Given the description of an element on the screen output the (x, y) to click on. 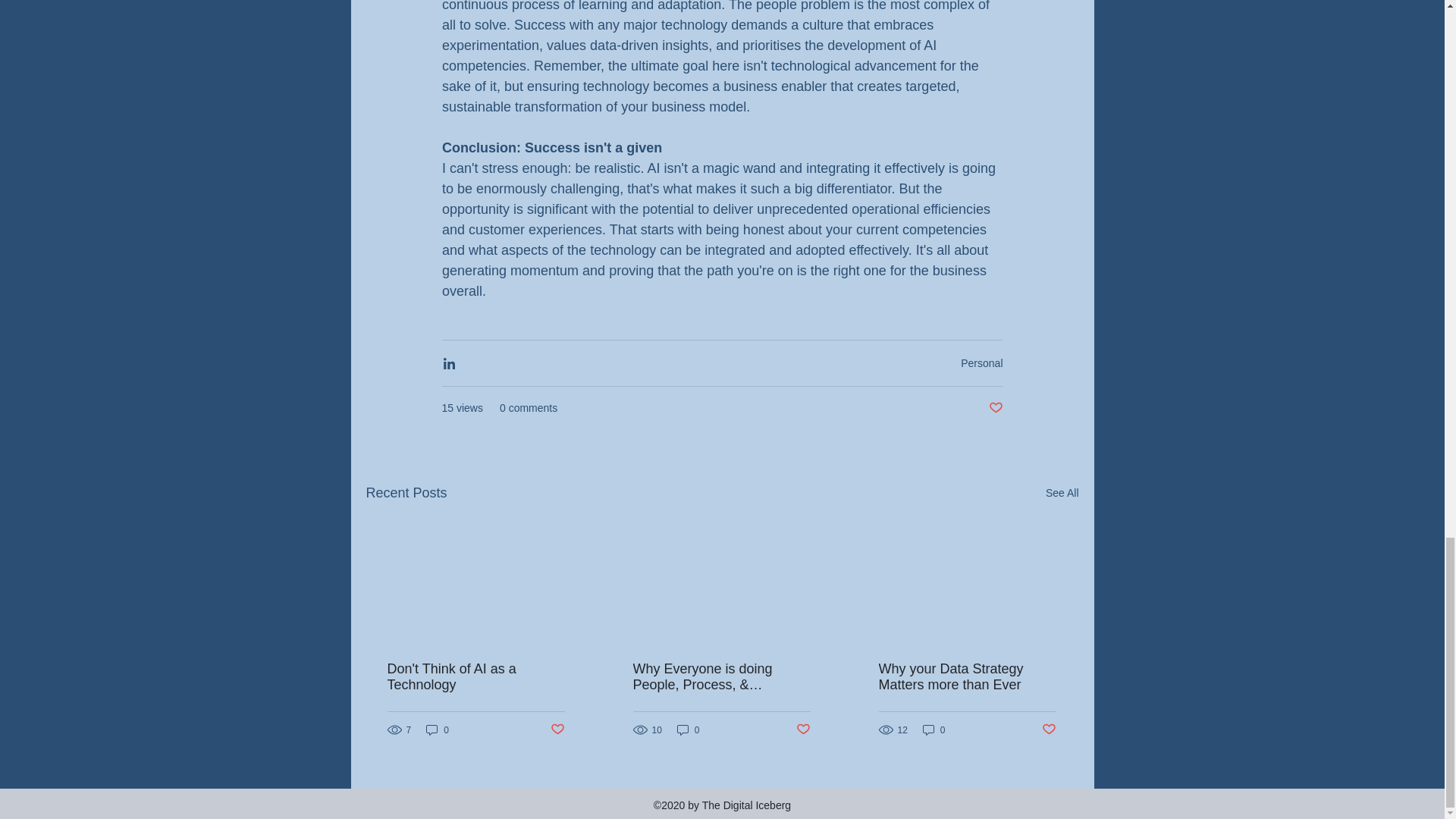
0 (437, 729)
0 (688, 729)
0 (934, 729)
Personal (981, 363)
Post not marked as liked (1049, 729)
Why your Data Strategy Matters more than Ever (966, 676)
Post not marked as liked (557, 729)
Post not marked as liked (803, 729)
Don't Think of AI as a Technology (475, 676)
See All (1061, 493)
